Given the description of an element on the screen output the (x, y) to click on. 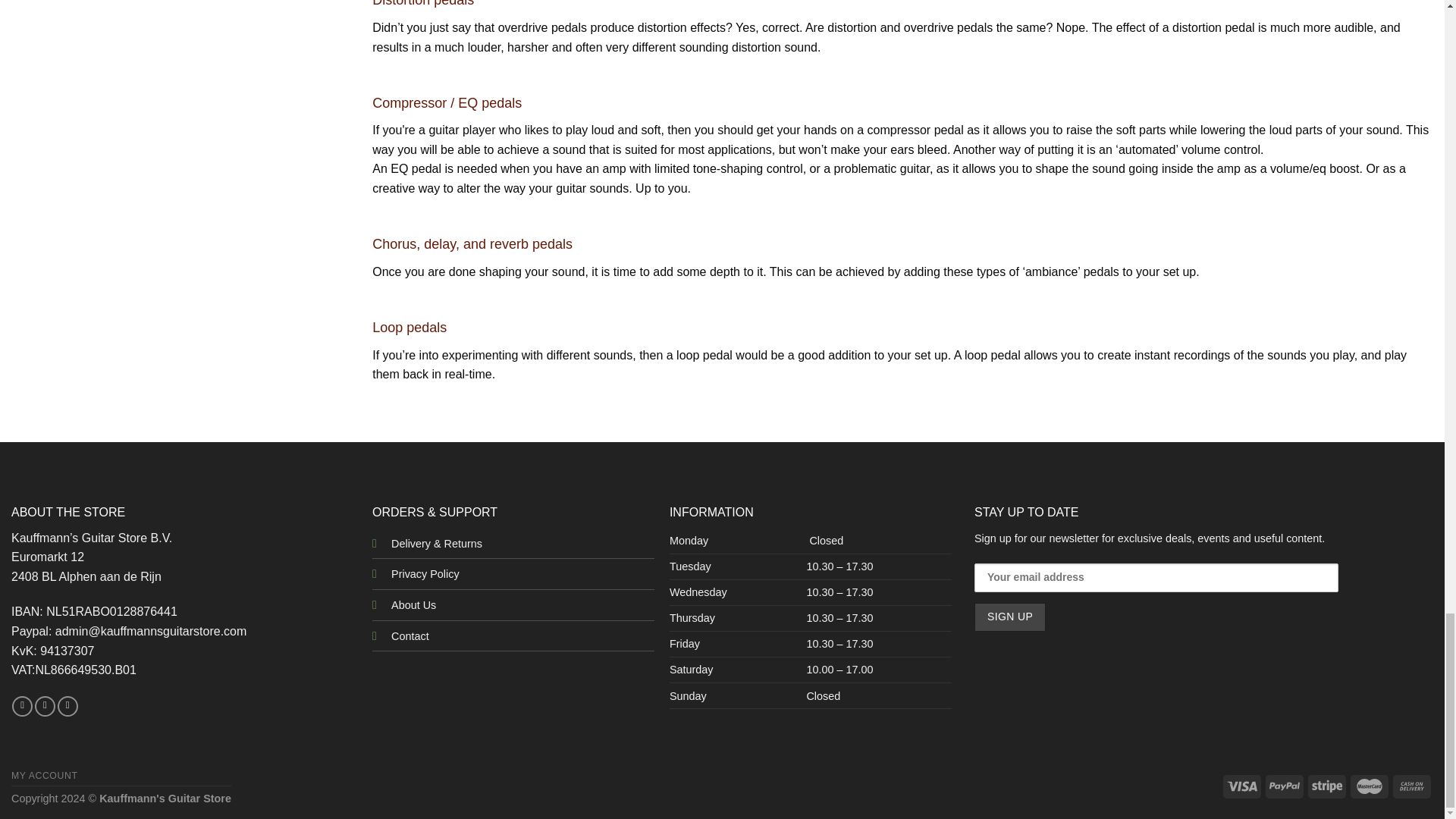
Sign up (1009, 616)
